Given the description of an element on the screen output the (x, y) to click on. 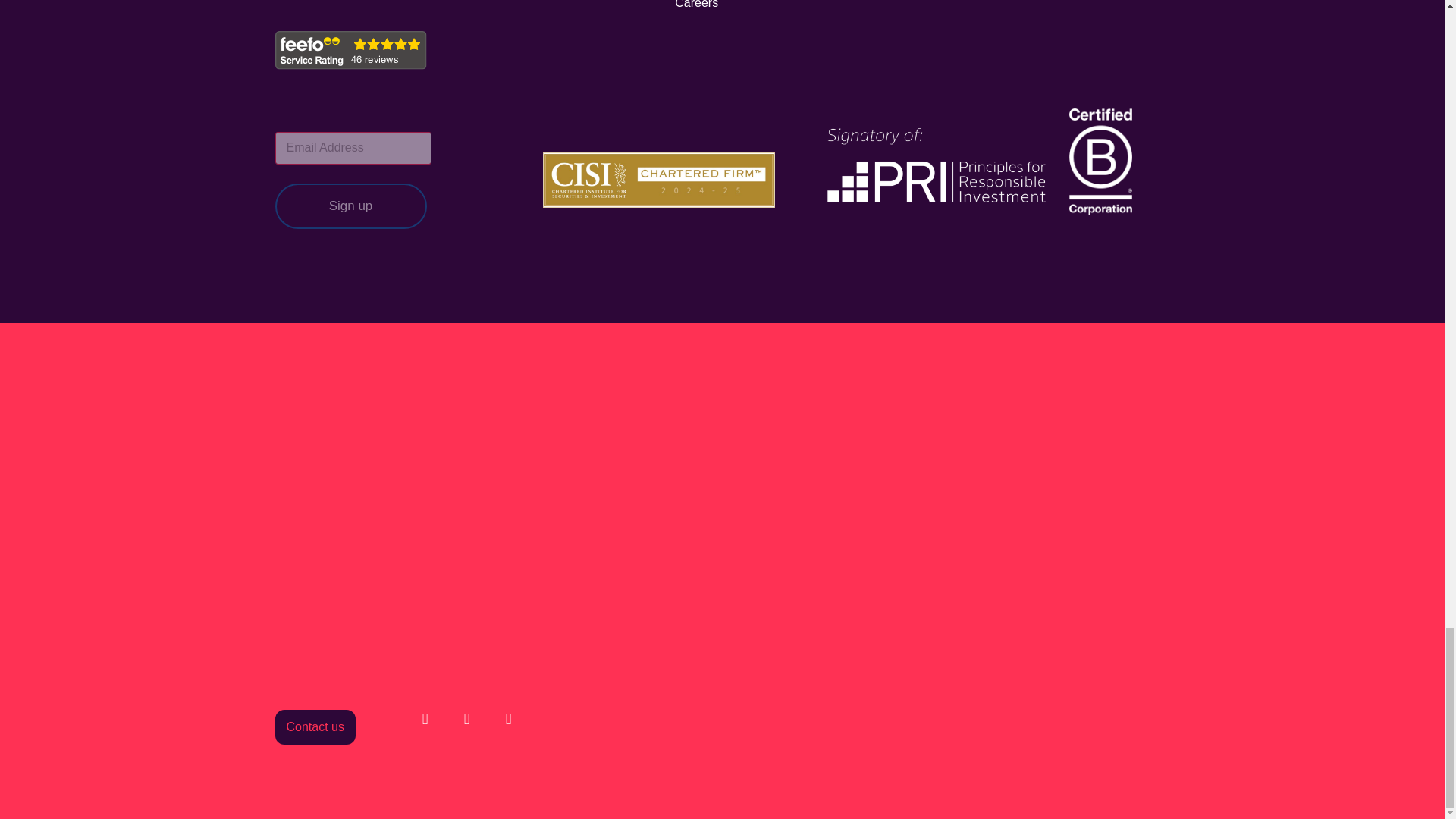
See what our customers say about us (350, 50)
